Given the description of an element on the screen output the (x, y) to click on. 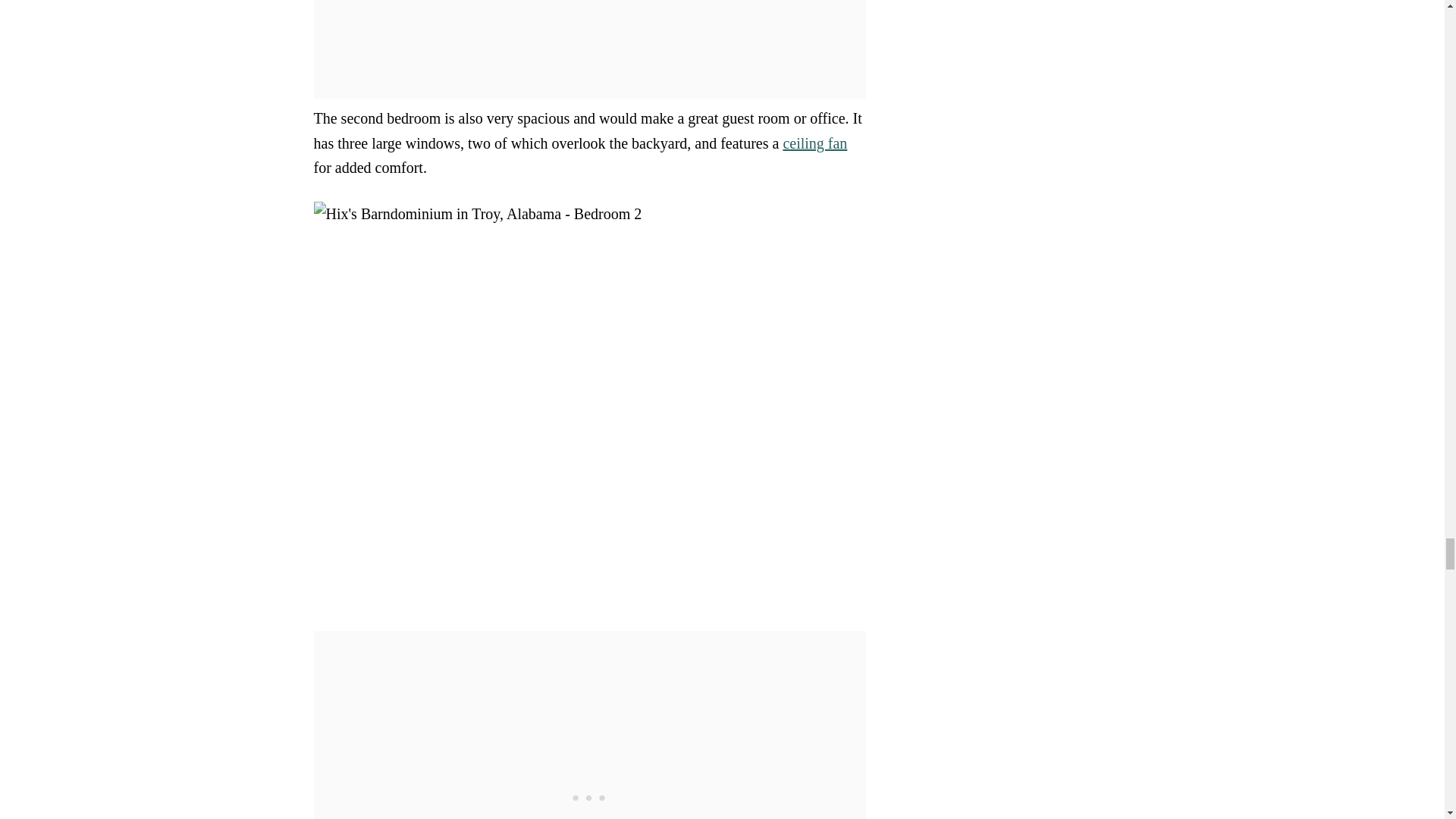
ceiling fan (815, 143)
